Given the description of an element on the screen output the (x, y) to click on. 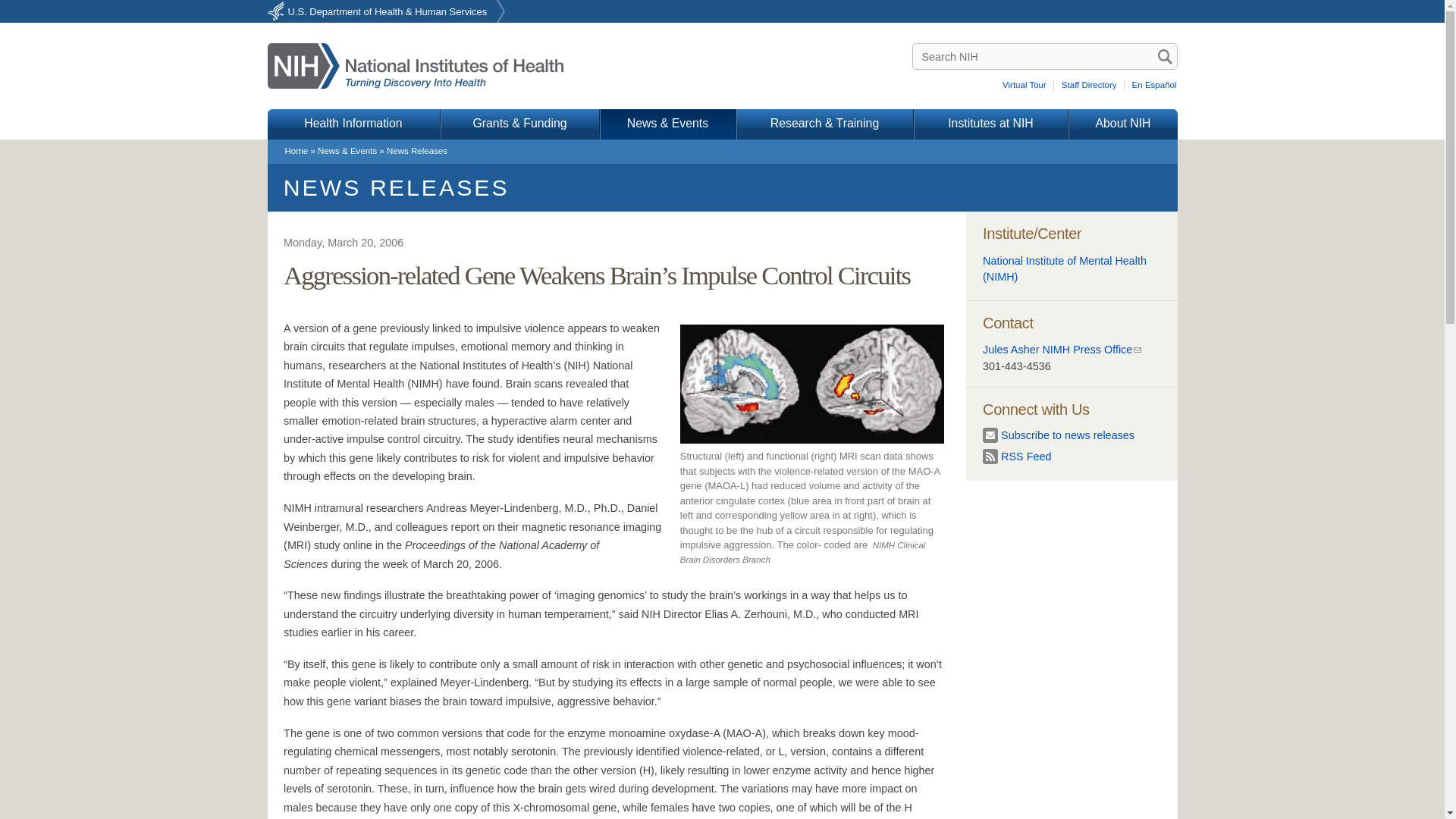
Search (1164, 56)
Search (1164, 56)
Virtual Tour (1026, 84)
Search (1164, 56)
Staff Directory (1091, 84)
Health Information (352, 123)
